Given the description of an element on the screen output the (x, y) to click on. 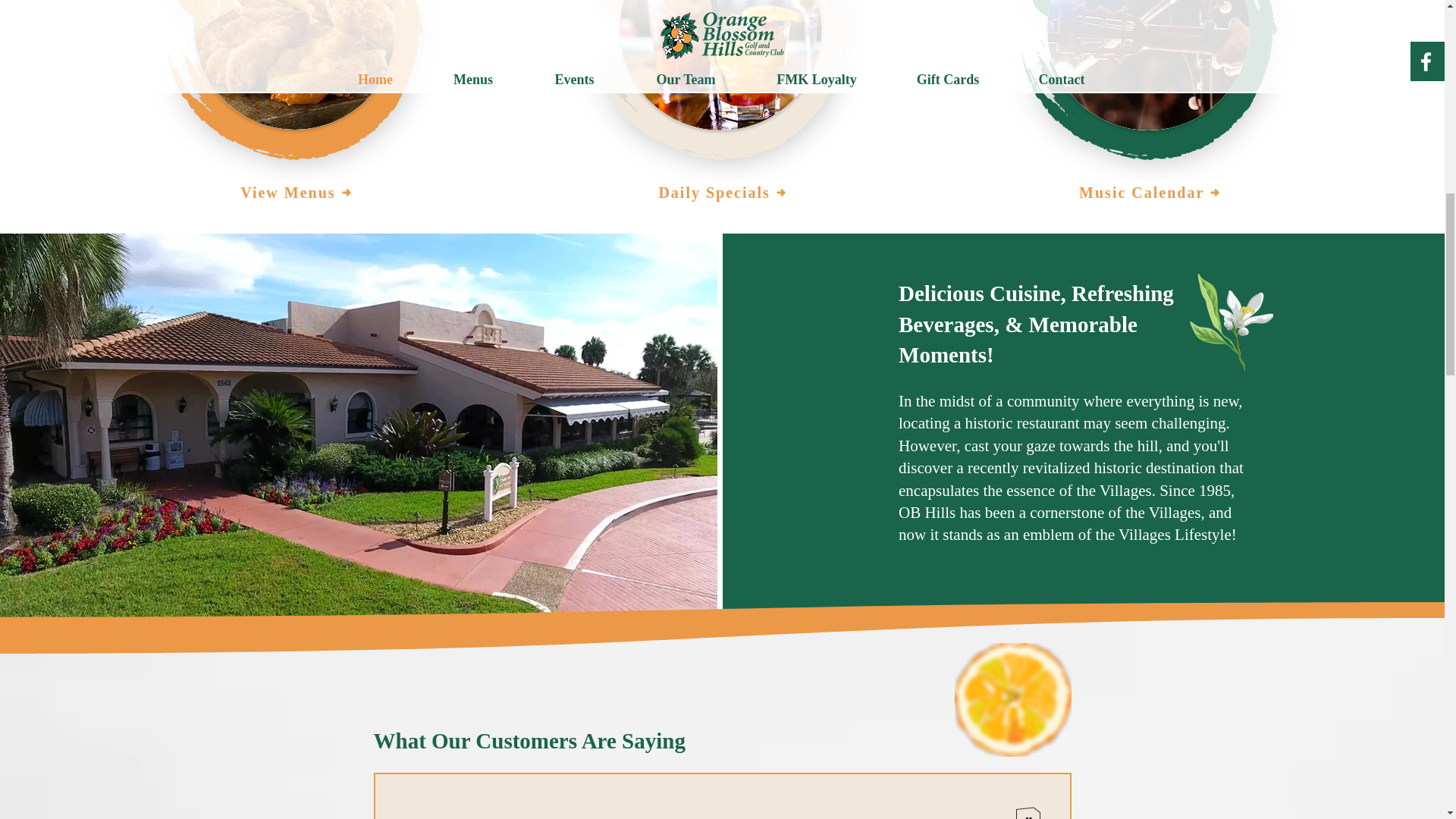
Music Calendar (1149, 192)
View Menus (296, 192)
Daily Specials (721, 192)
